Given the description of an element on the screen output the (x, y) to click on. 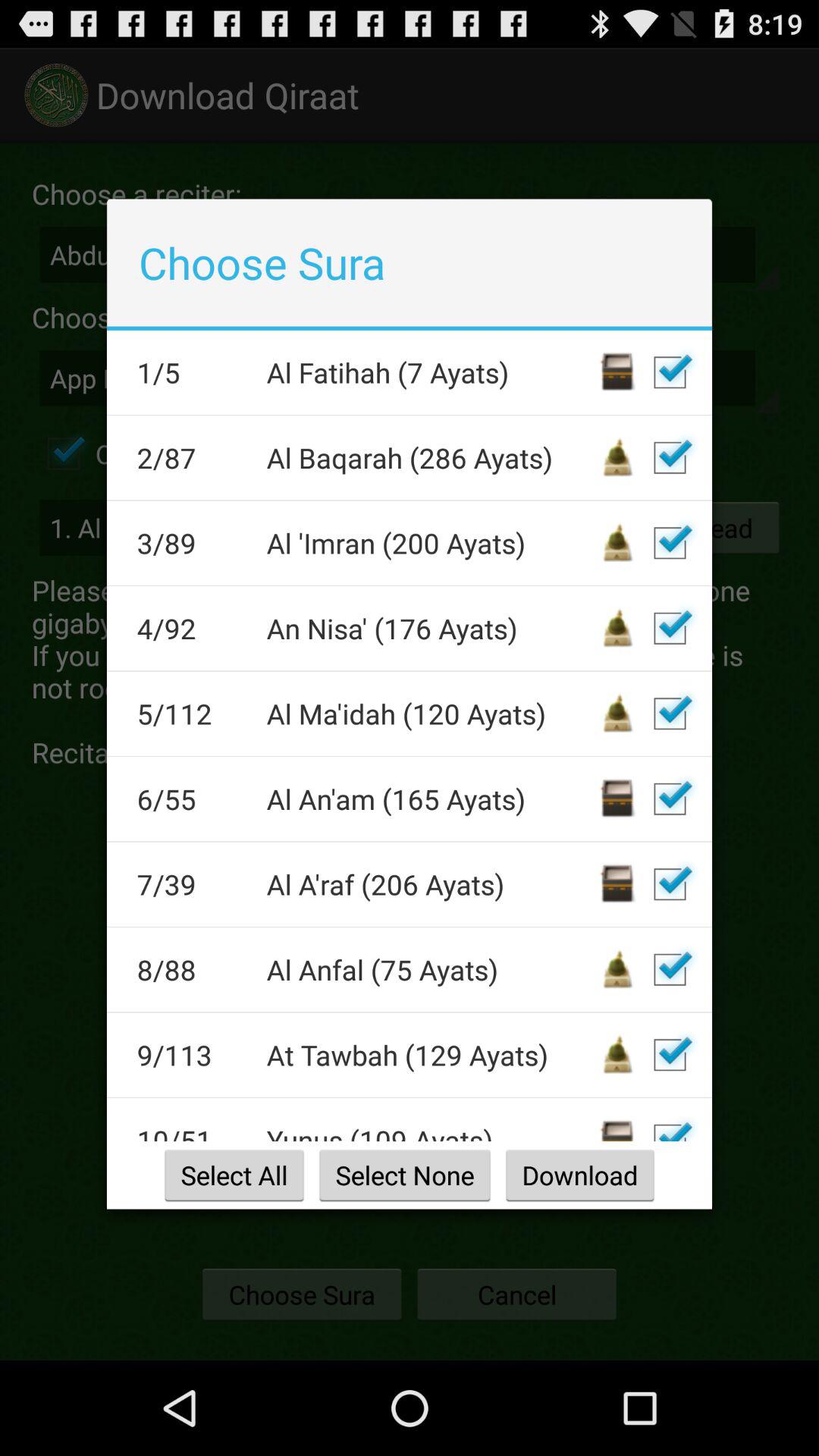
tap the icon to the left of the al an am item (191, 798)
